Given the description of an element on the screen output the (x, y) to click on. 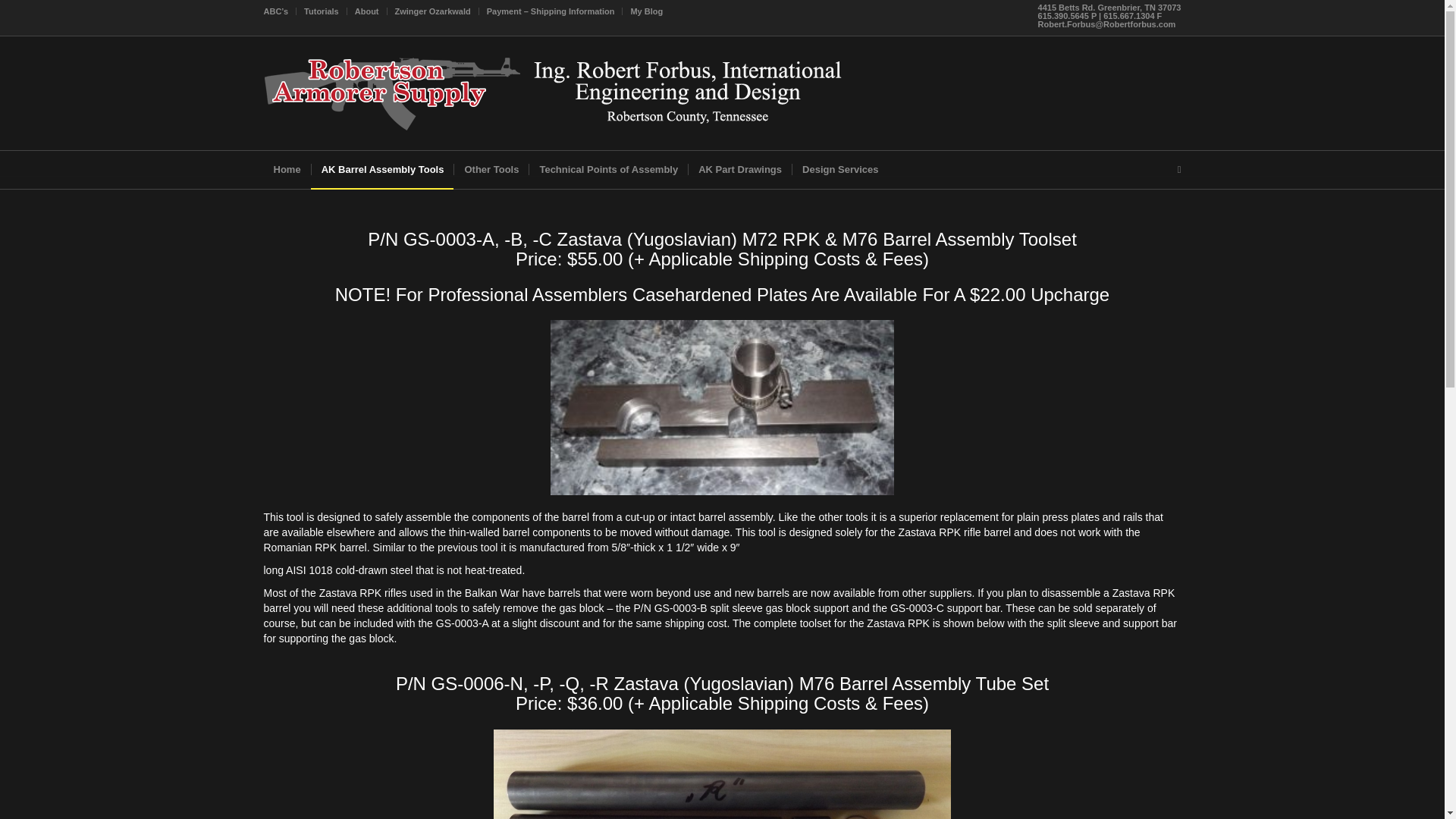
My Blog (646, 11)
Home (287, 169)
AK Barrel Assembly Tools (382, 169)
Zwinger Ozarkwald (432, 11)
About (366, 11)
Tutorials (321, 11)
